Given the description of an element on the screen output the (x, y) to click on. 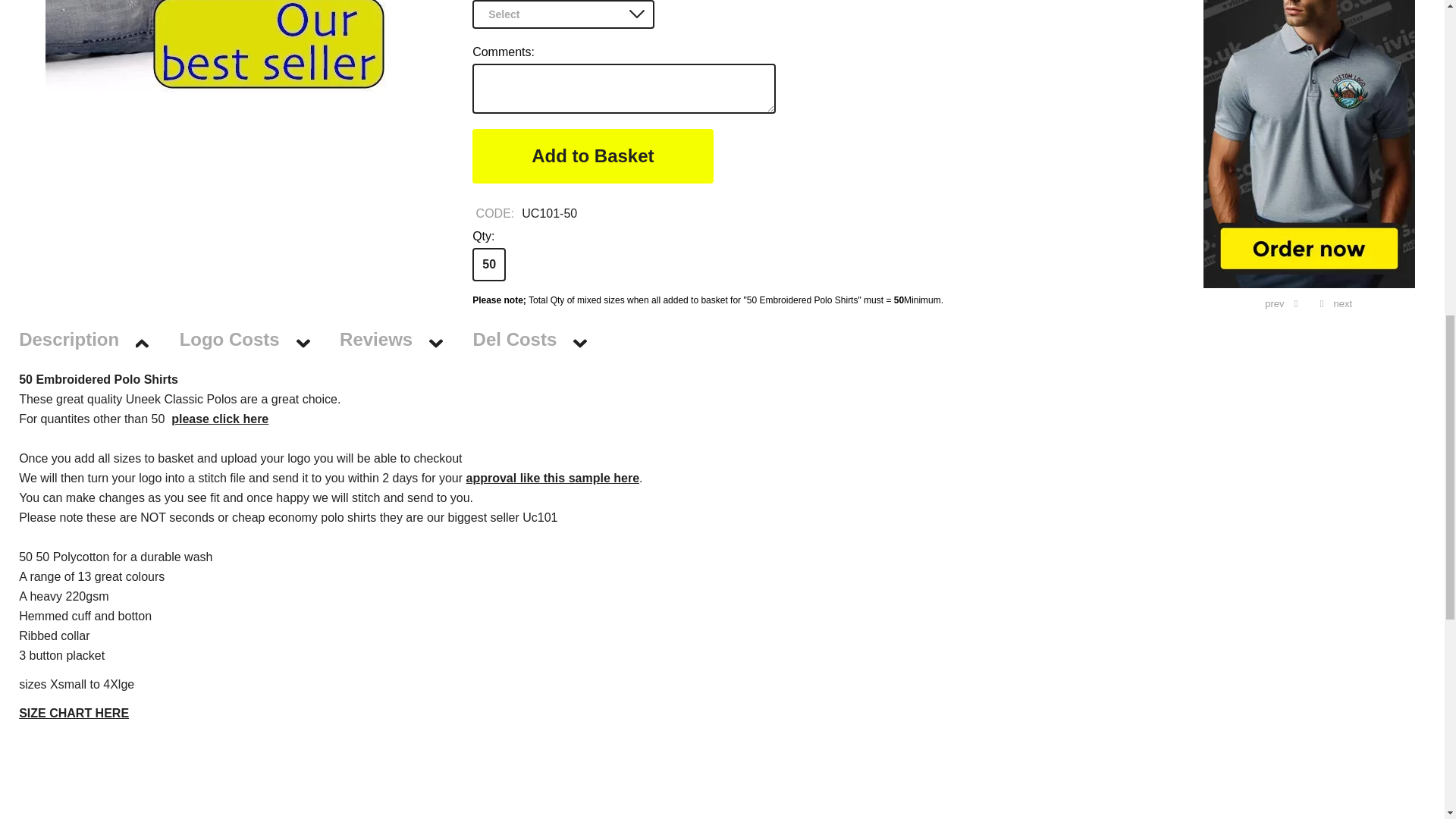
50 (488, 264)
50 Embroidered Polo Shirts (216, 45)
50 Embroidered Polo Shirts (216, 45)
